Given the description of an element on the screen output the (x, y) to click on. 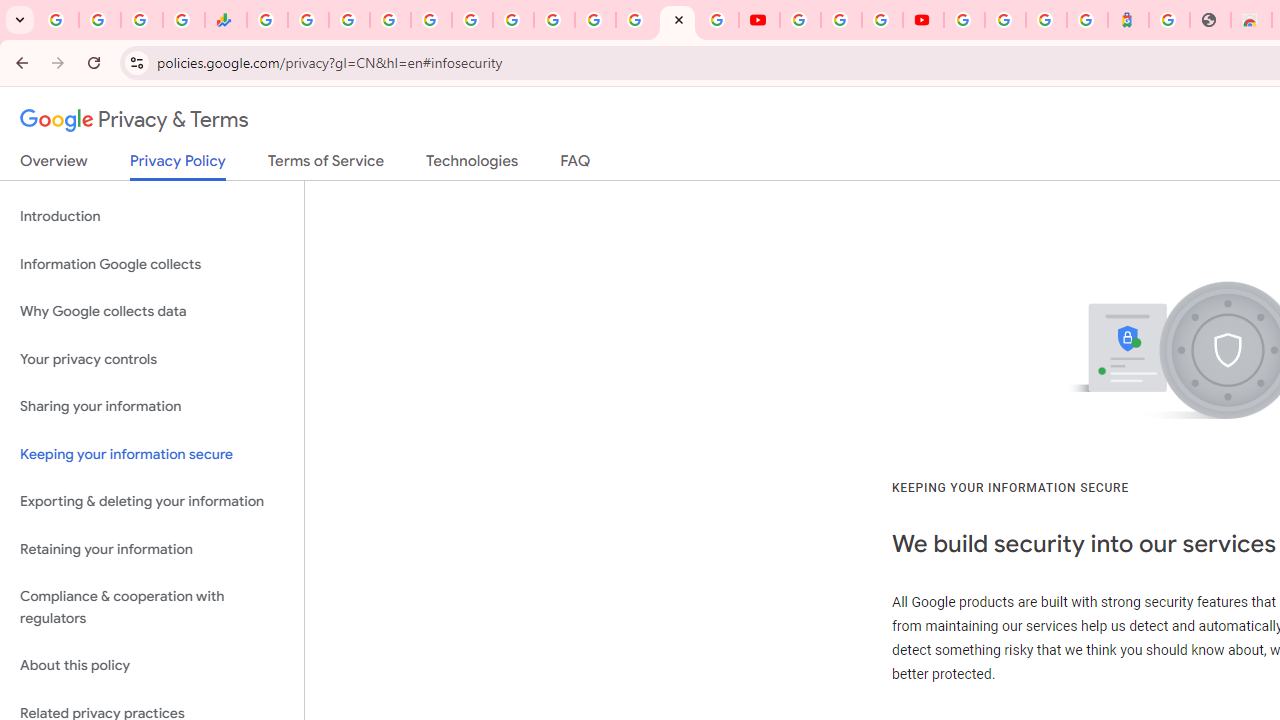
Retaining your information (152, 548)
Keeping your information secure (152, 453)
Introduction (152, 216)
Android TV Policies and Guidelines - Transparency Center (512, 20)
About this policy (152, 666)
YouTube (758, 20)
YouTube (553, 20)
Sign in - Google Accounts (964, 20)
Content Creator Programs & Opportunities - YouTube Creators (923, 20)
Privacy Policy (177, 166)
